Given the description of an element on the screen output the (x, y) to click on. 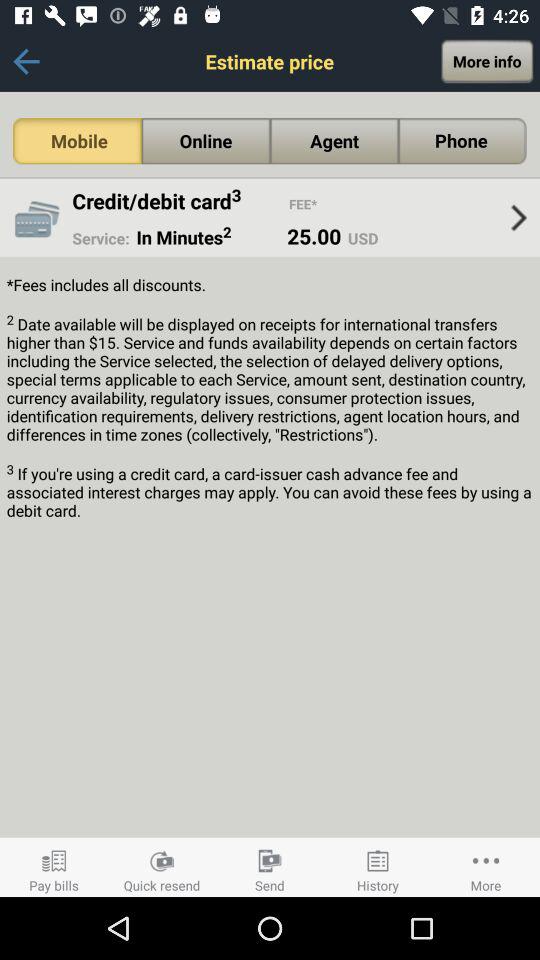
open app to the left of 25.00 icon (201, 237)
